Given the description of an element on the screen output the (x, y) to click on. 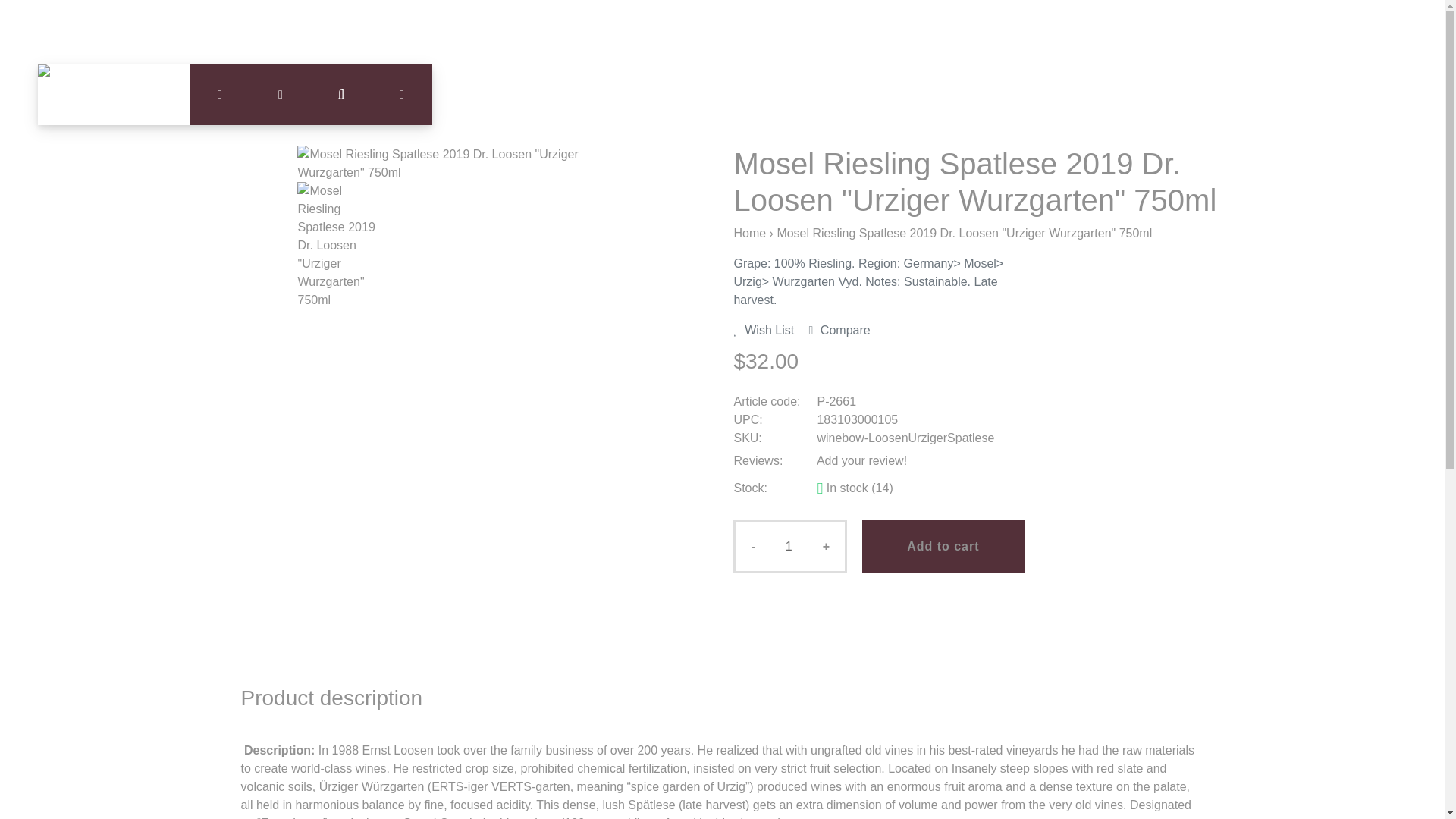
Wish List (769, 329)
Add to compare (839, 329)
Add to wishlist (769, 329)
Compare (839, 329)
Add to cart (942, 546)
Home (749, 232)
Add your review! (861, 460)
